Given the description of an element on the screen output the (x, y) to click on. 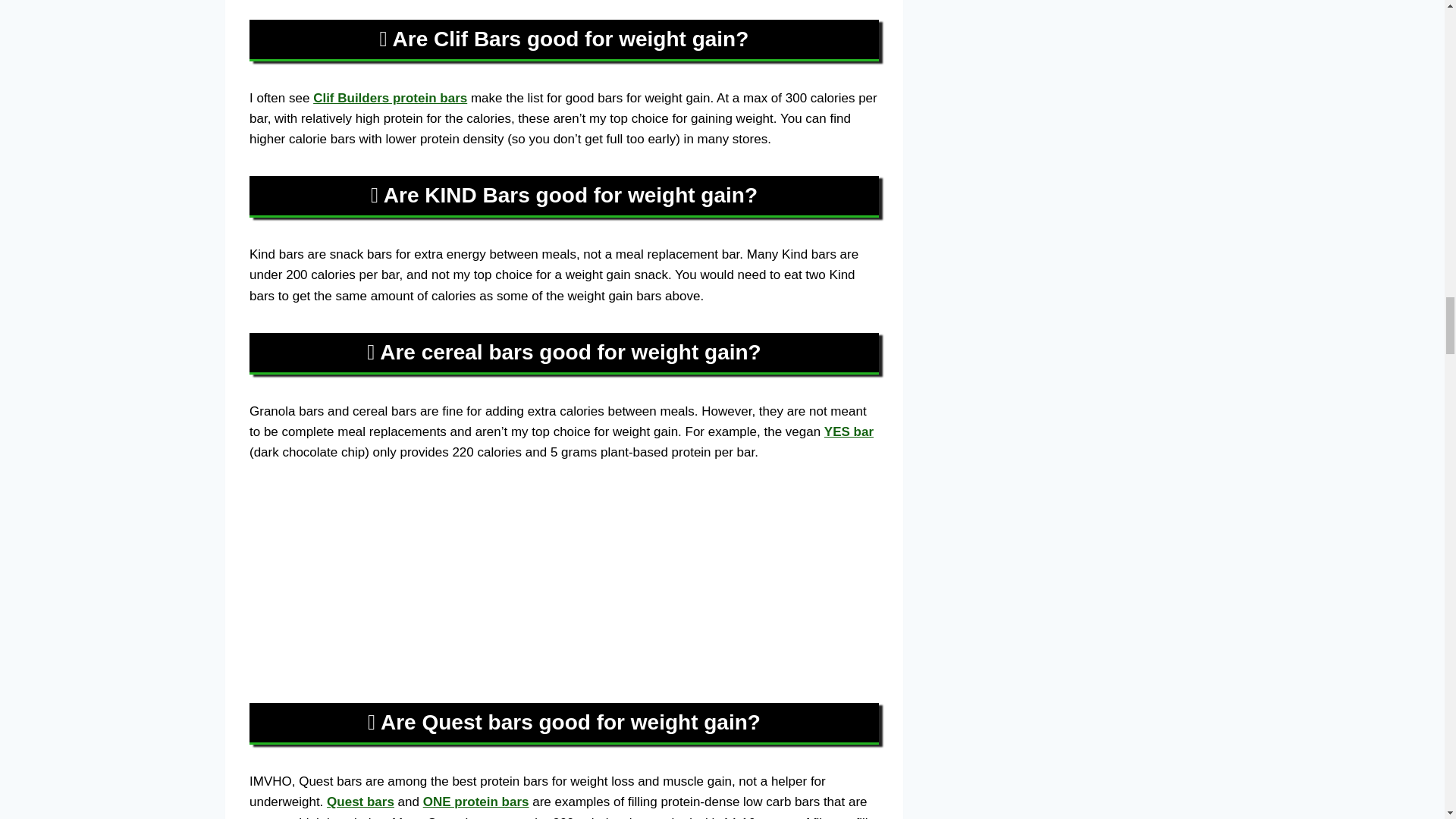
Quest bars (360, 801)
ONE protein bars (476, 801)
Clif Builders protein bars (390, 97)
YES bar (848, 431)
